Given the description of an element on the screen output the (x, y) to click on. 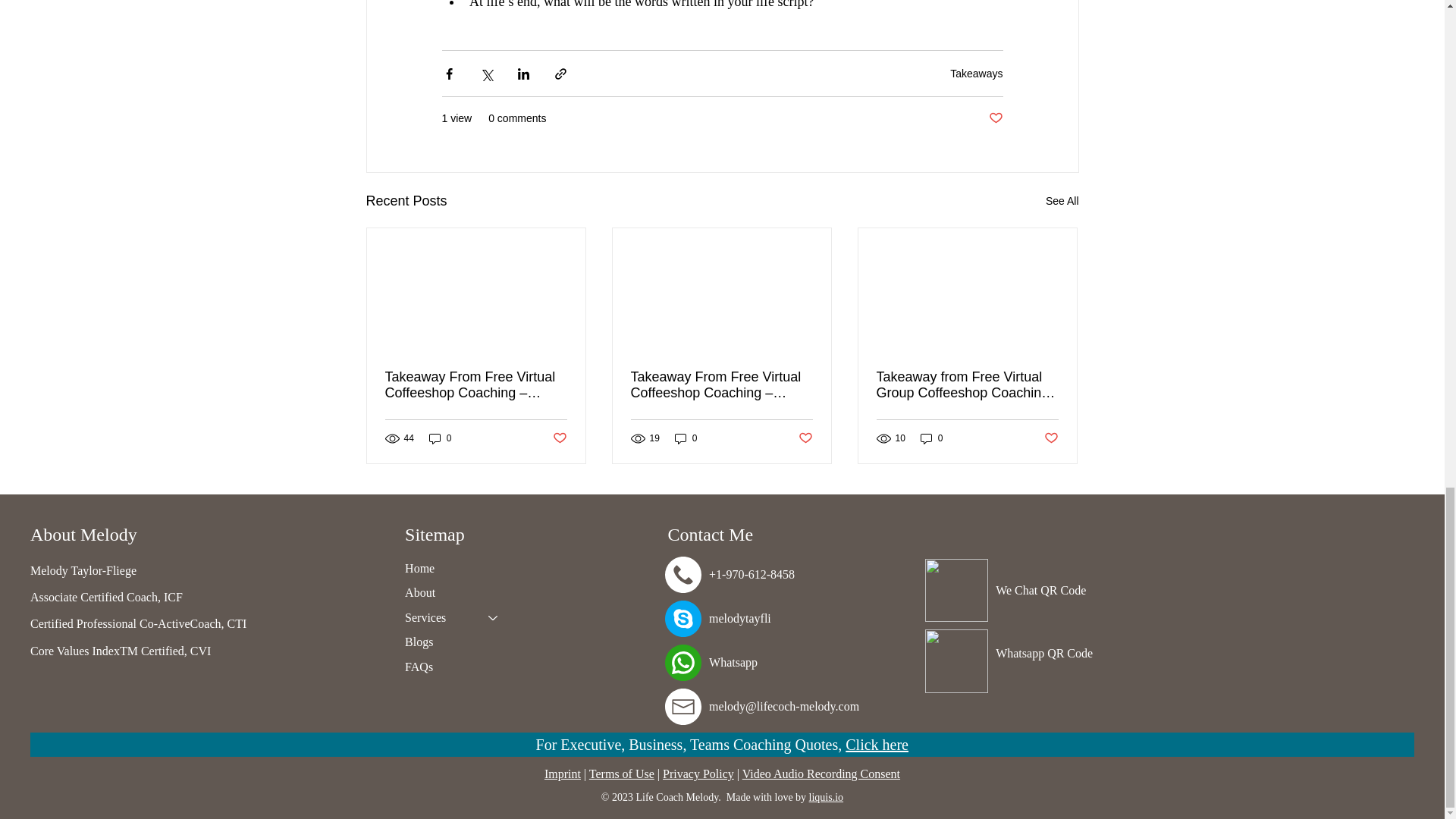
Takeaways (976, 72)
See All (1061, 201)
Post not marked as liked (995, 118)
